Given the description of an element on the screen output the (x, y) to click on. 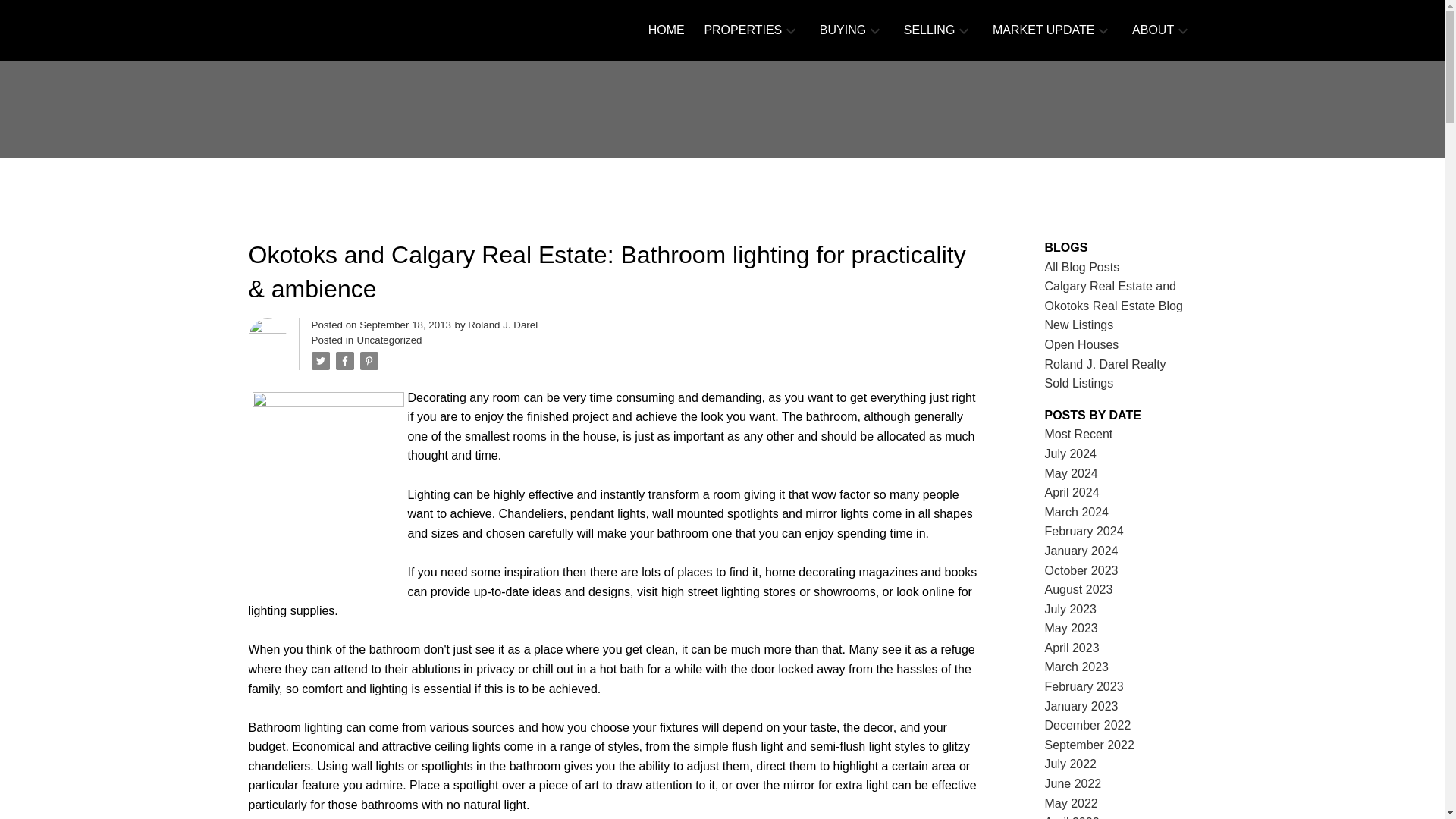
HOME (665, 30)
